Given the description of an element on the screen output the (x, y) to click on. 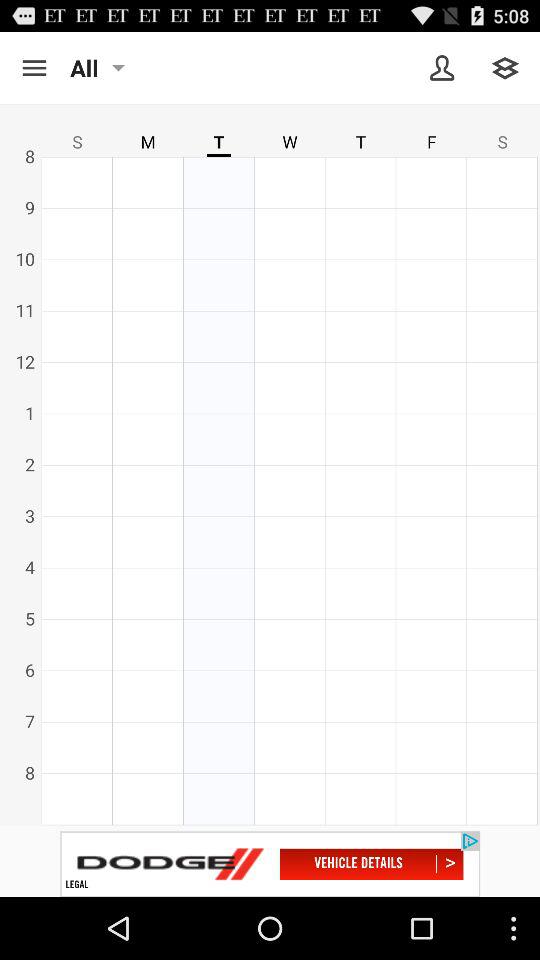
show own profile (442, 68)
